Given the description of an element on the screen output the (x, y) to click on. 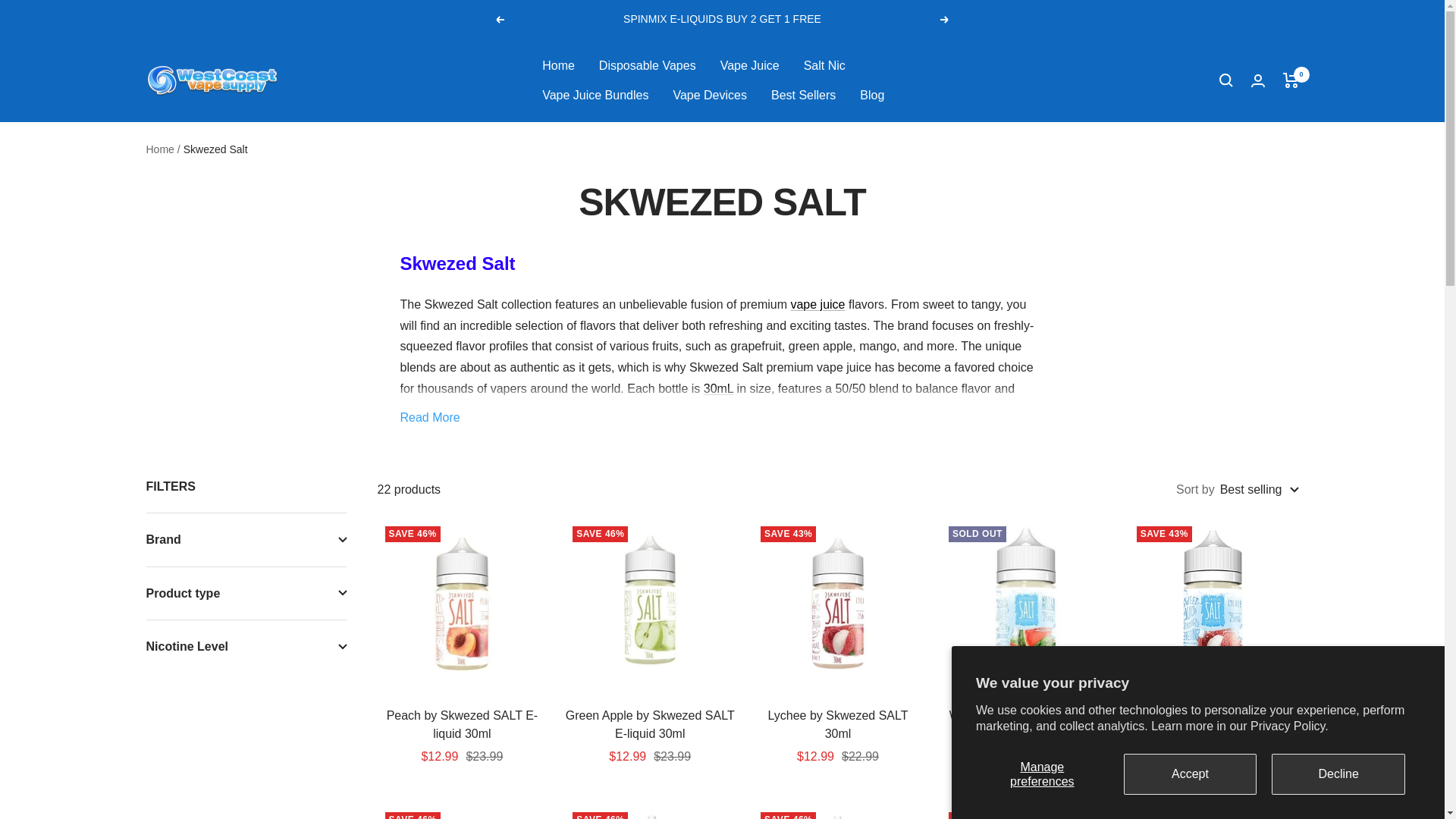
30mL Salt Nic Vape Juice (718, 388)
Previous (499, 19)
Accept (1190, 773)
Privacy Policy. (1288, 725)
30mL (718, 388)
West Coast Vape Supply (211, 80)
Home (558, 65)
Decline (1338, 773)
0 (1290, 79)
Vape Devices (709, 95)
